Given the description of an element on the screen output the (x, y) to click on. 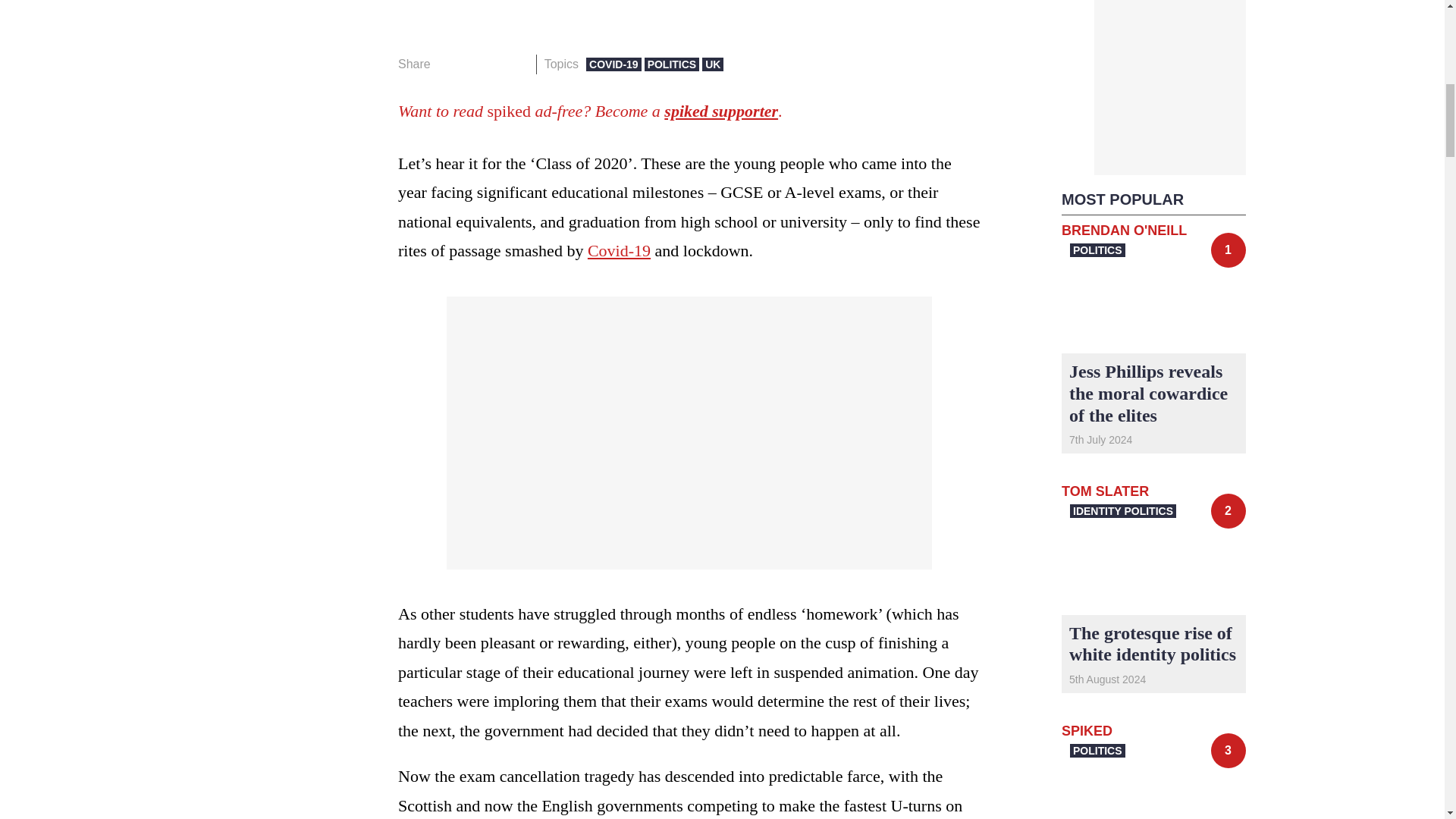
Share on Facebook (448, 64)
Share on Twitter (471, 64)
Share on Whatsapp (494, 64)
Share on Email (518, 64)
